Given the description of an element on the screen output the (x, y) to click on. 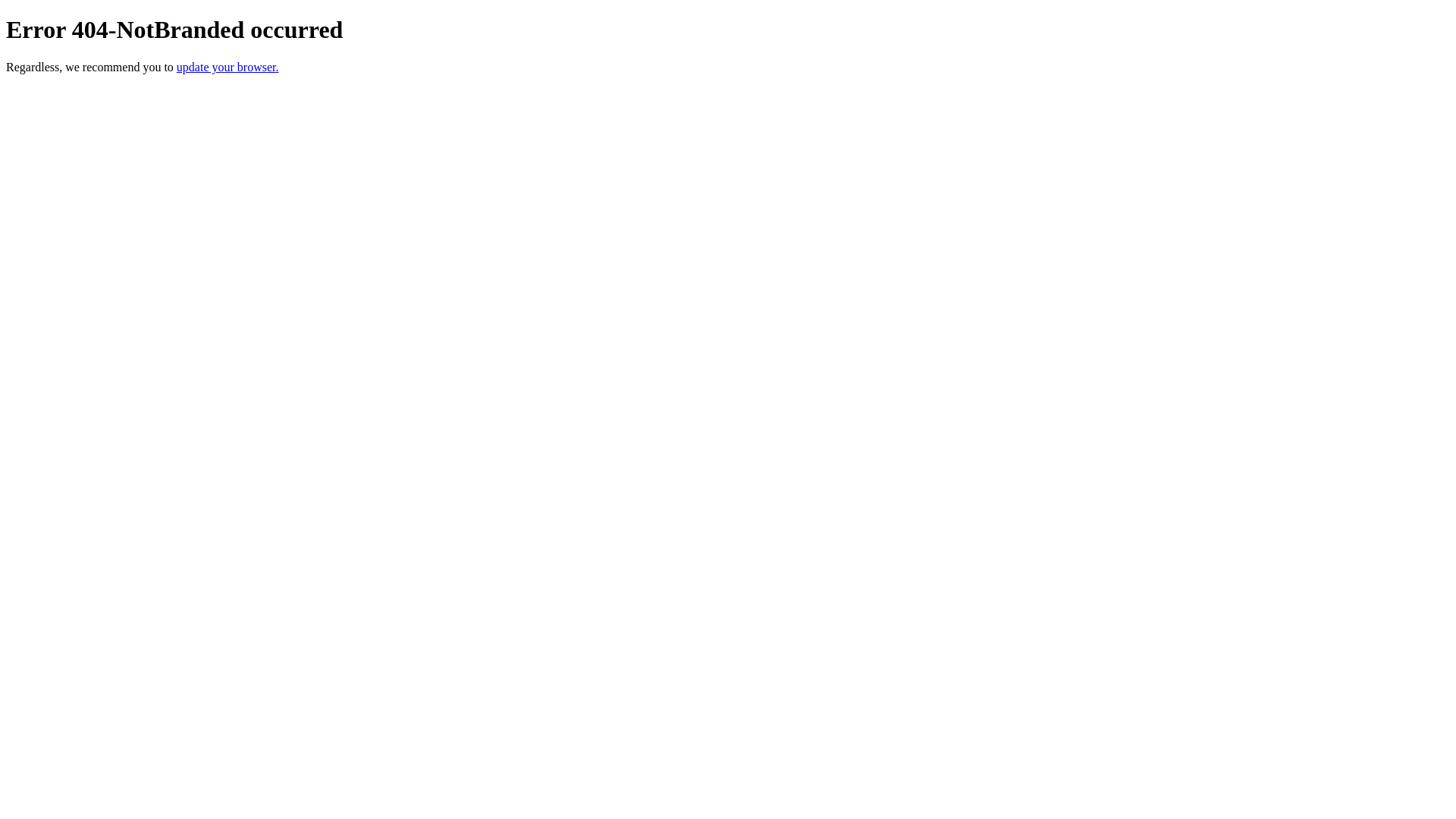
update your browser. Element type: text (227, 66)
